Given the description of an element on the screen output the (x, y) to click on. 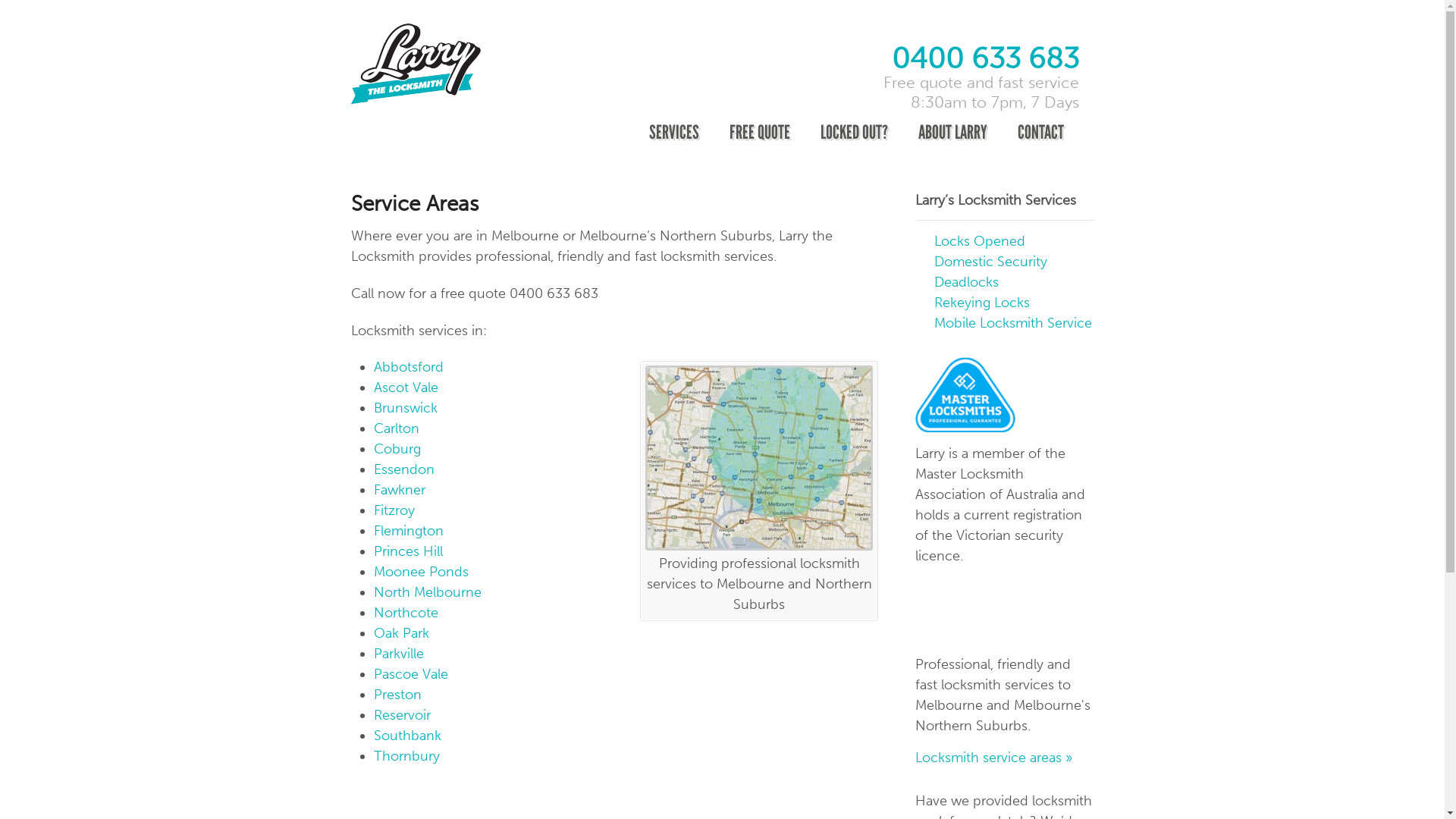
Deadlocks Element type: text (966, 281)
Oak Park Element type: text (400, 632)
Ascot Vale Element type: text (405, 387)
Flemington Element type: text (407, 530)
Rekeying Locks Element type: text (981, 302)
ABOUT LARRY Element type: text (951, 132)
Domestic Security Element type: text (990, 261)
Carlton Element type: text (395, 428)
FREE QUOTE Element type: text (759, 132)
CONTACT Element type: text (1040, 132)
Parkville Element type: text (398, 653)
Princes Hill Element type: text (407, 550)
Brunswick Element type: text (404, 407)
Fitzroy Element type: text (393, 510)
Locks Opened Element type: text (979, 240)
Southbank Element type: text (406, 735)
Fawkner Element type: text (398, 489)
Free Quote Element type: text (985, 610)
Reservoir Element type: text (401, 714)
Thornbury Element type: text (406, 755)
Coburg Element type: text (396, 448)
Preston Element type: text (396, 694)
Northcote Element type: text (405, 612)
Abbotsford Element type: text (407, 366)
North Melbourne Element type: text (426, 591)
LOCKED OUT? Element type: text (854, 132)
Mobile Locksmith Service Element type: text (1013, 322)
SERVICES Element type: text (673, 132)
Pascoe Vale Element type: text (410, 673)
Moonee Ponds Element type: text (420, 571)
Essendon Element type: text (403, 469)
